Given the description of an element on the screen output the (x, y) to click on. 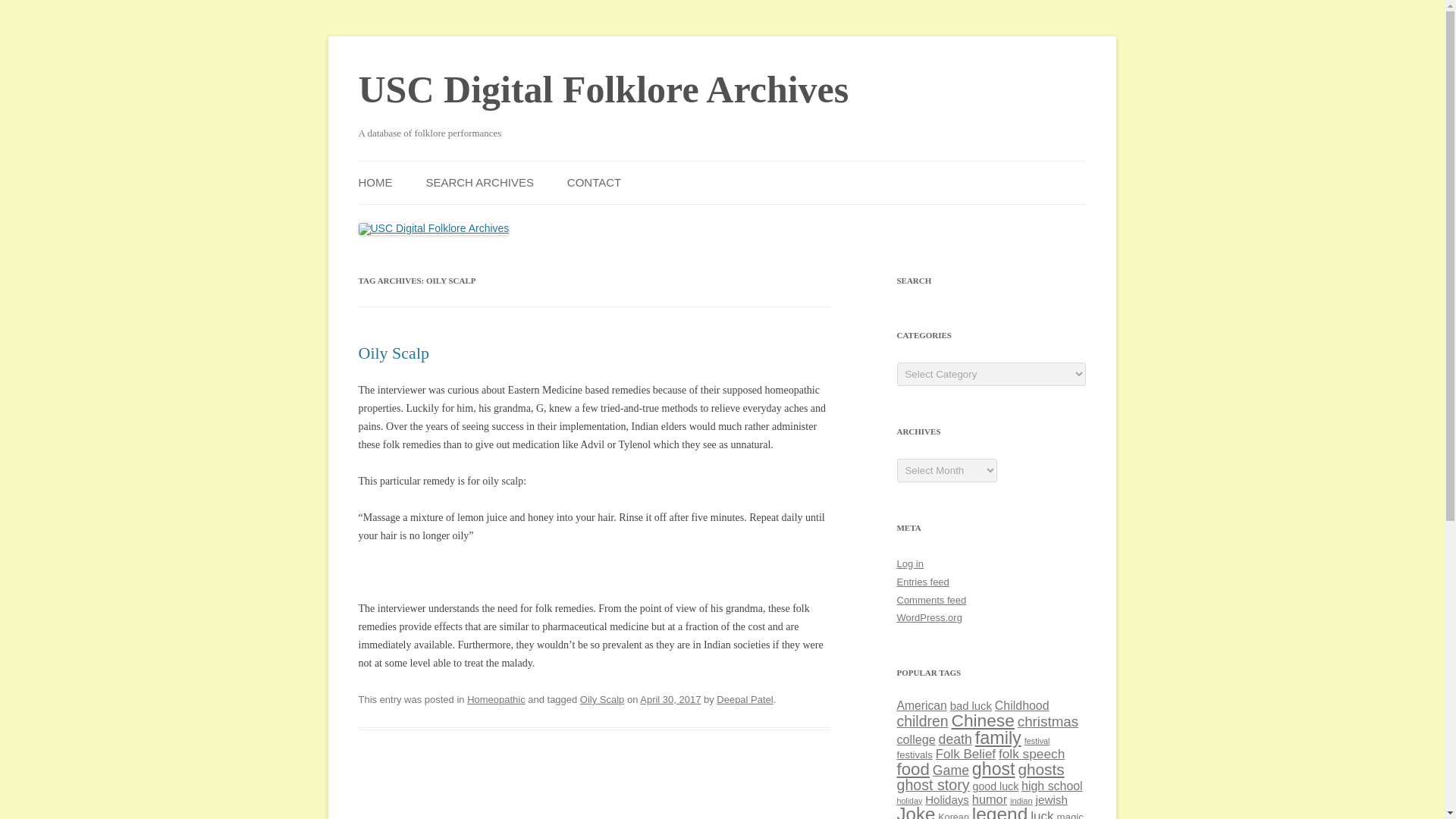
humor (989, 798)
holiday (908, 800)
ghost story (932, 784)
USC Digital Folklore Archives (603, 89)
christmas (1047, 721)
Log in (909, 563)
Game (951, 770)
folk speech (1031, 753)
family (998, 737)
USC Digital Folklore Archives (603, 89)
April 30, 2017 (670, 699)
Holidays (946, 799)
Comments feed (931, 600)
CONTACT (594, 182)
